Given the description of an element on the screen output the (x, y) to click on. 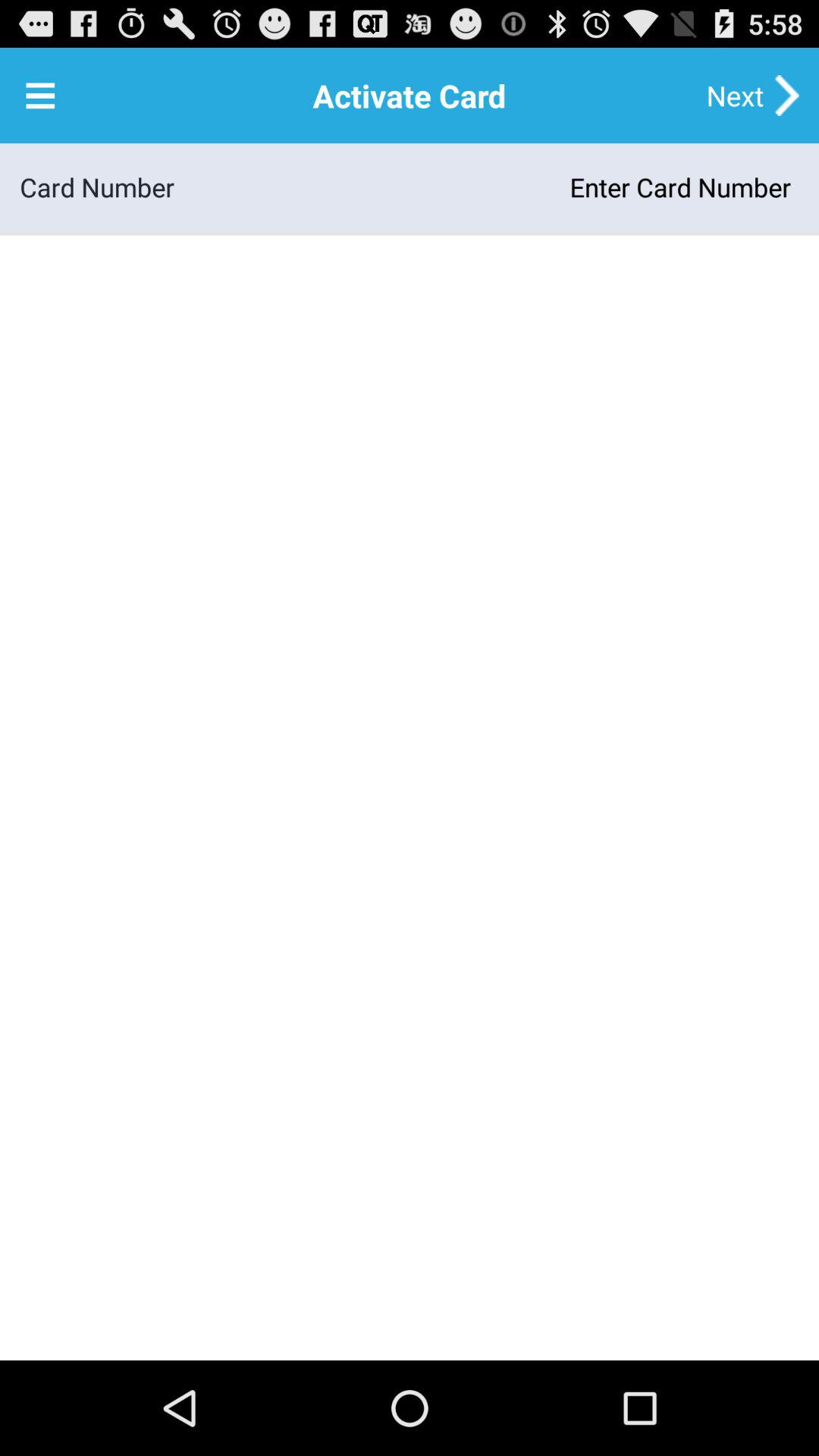
tap the item below next item (486, 186)
